Given the description of an element on the screen output the (x, y) to click on. 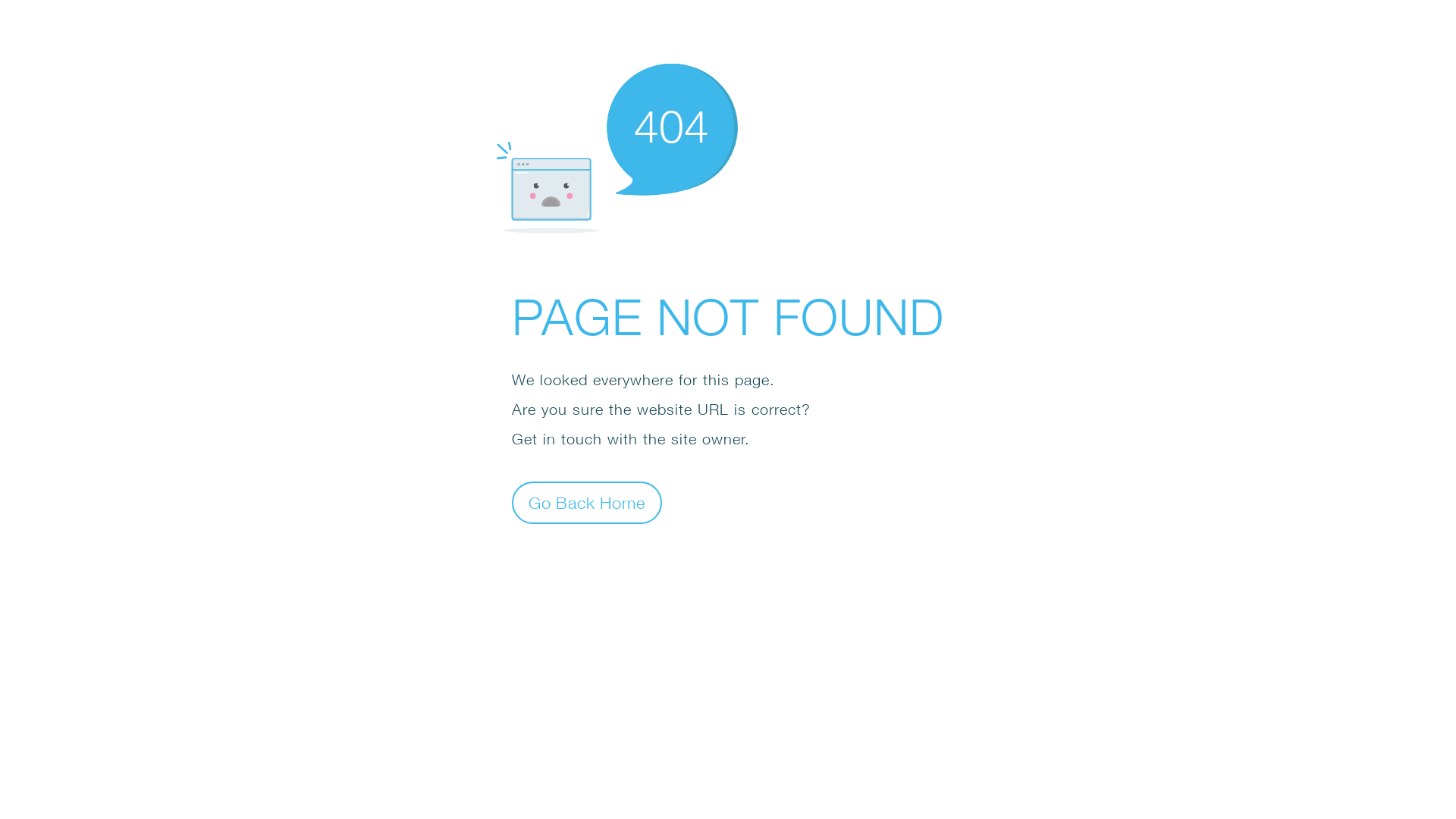
Go Back Home Element type: text (586, 502)
